Given the description of an element on the screen output the (x, y) to click on. 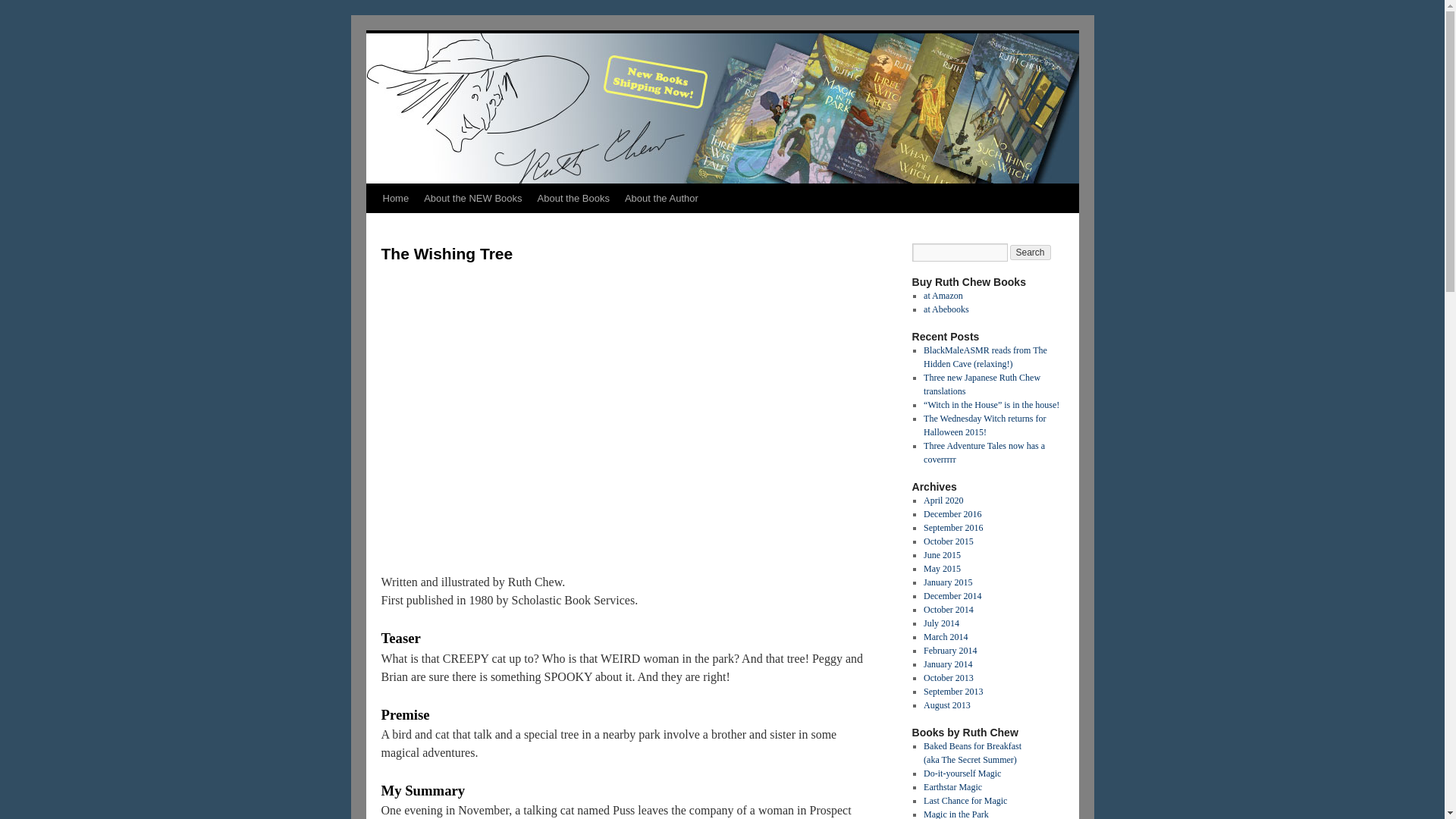
October 2015 (948, 541)
June 2015 (941, 554)
Three new Japanese Ruth Chew translations (982, 384)
October 2014 (948, 609)
About the Books (573, 198)
Buy used Ruth Chew books at Abebooks! (946, 308)
May 2015 (941, 568)
January 2015 (947, 582)
About the Author (661, 198)
September 2013 (952, 691)
